Given the description of an element on the screen output the (x, y) to click on. 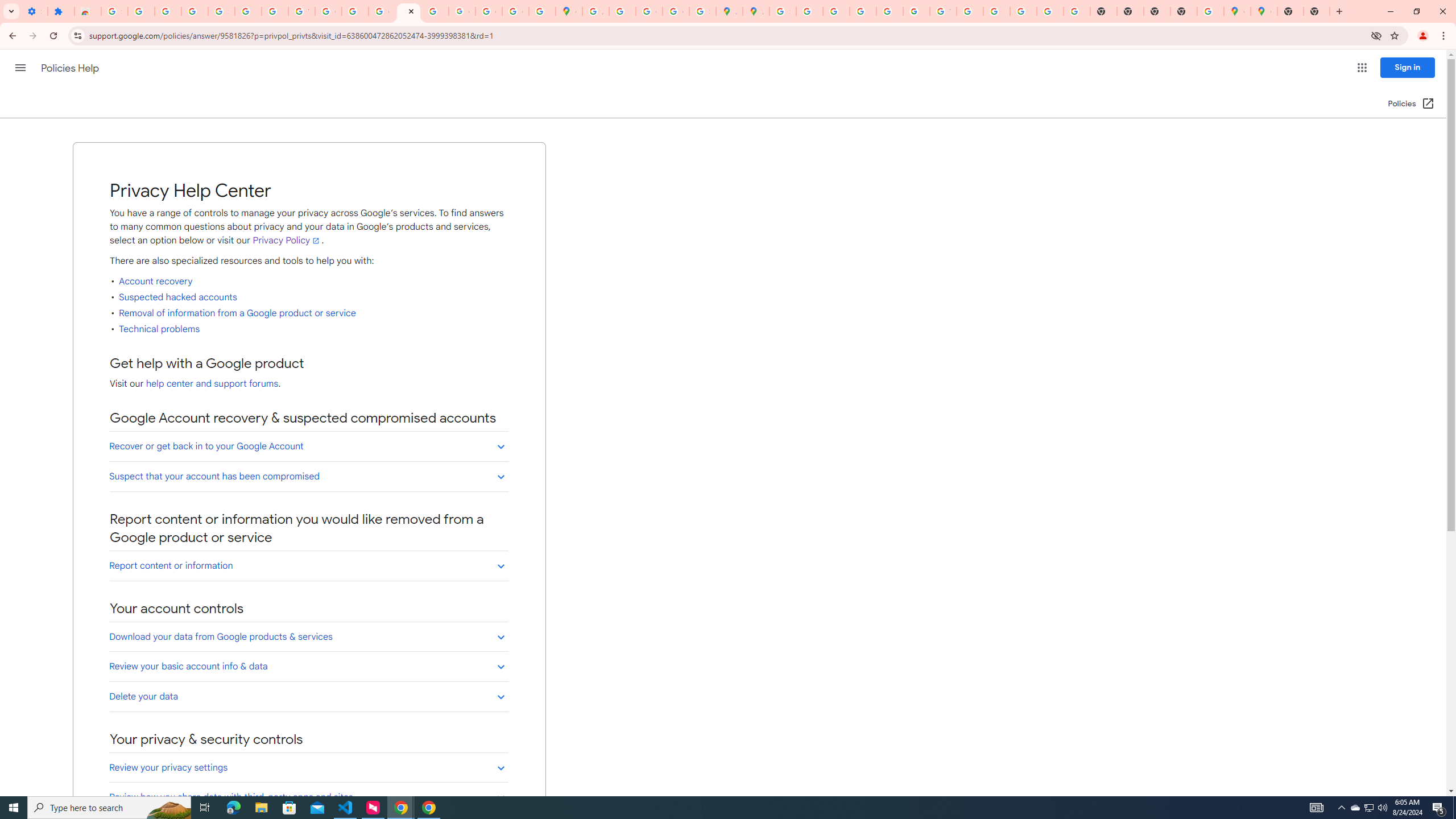
Create your Google Account (649, 11)
Recover or get back in to your Google Account (308, 445)
Sign in - Google Accounts (114, 11)
Privacy Help Center - Policies Help (862, 11)
Google Maps (1236, 11)
Google Maps (1263, 11)
